Given the description of an element on the screen output the (x, y) to click on. 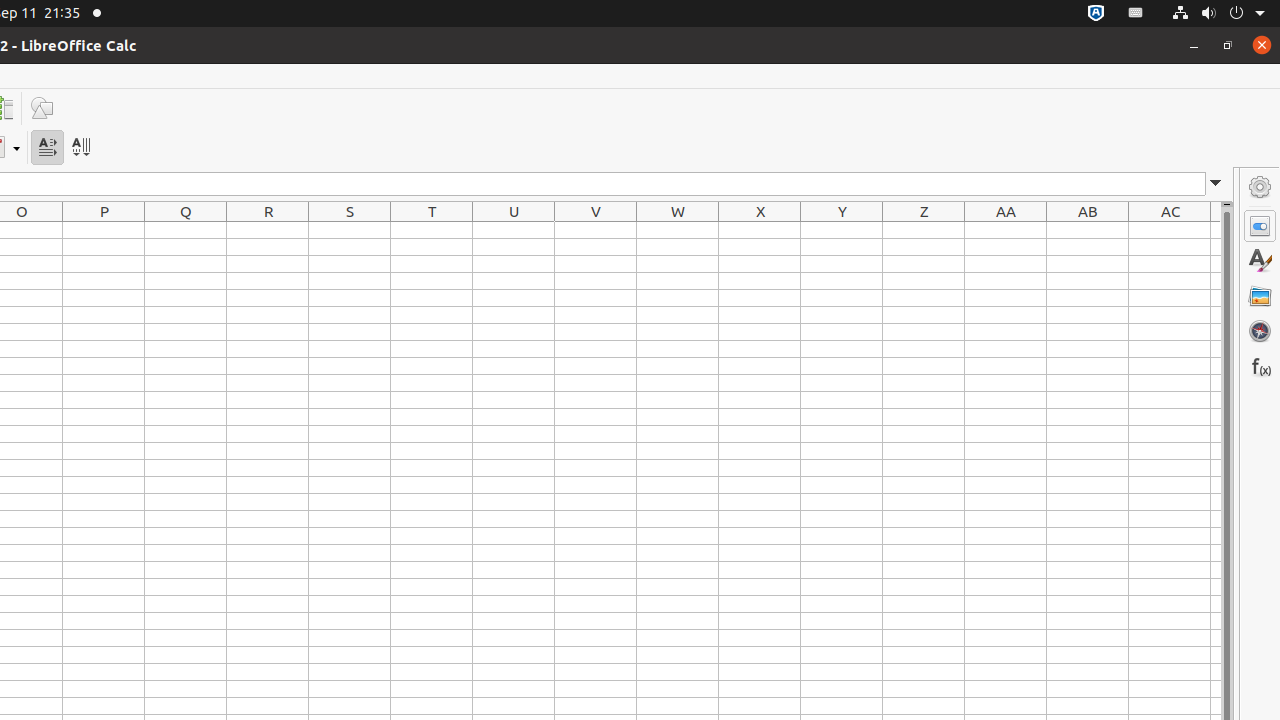
Functions Element type: radio-button (1260, 366)
AC1 Element type: table-cell (1170, 230)
U1 Element type: table-cell (514, 230)
Styles Element type: radio-button (1260, 261)
